Given the description of an element on the screen output the (x, y) to click on. 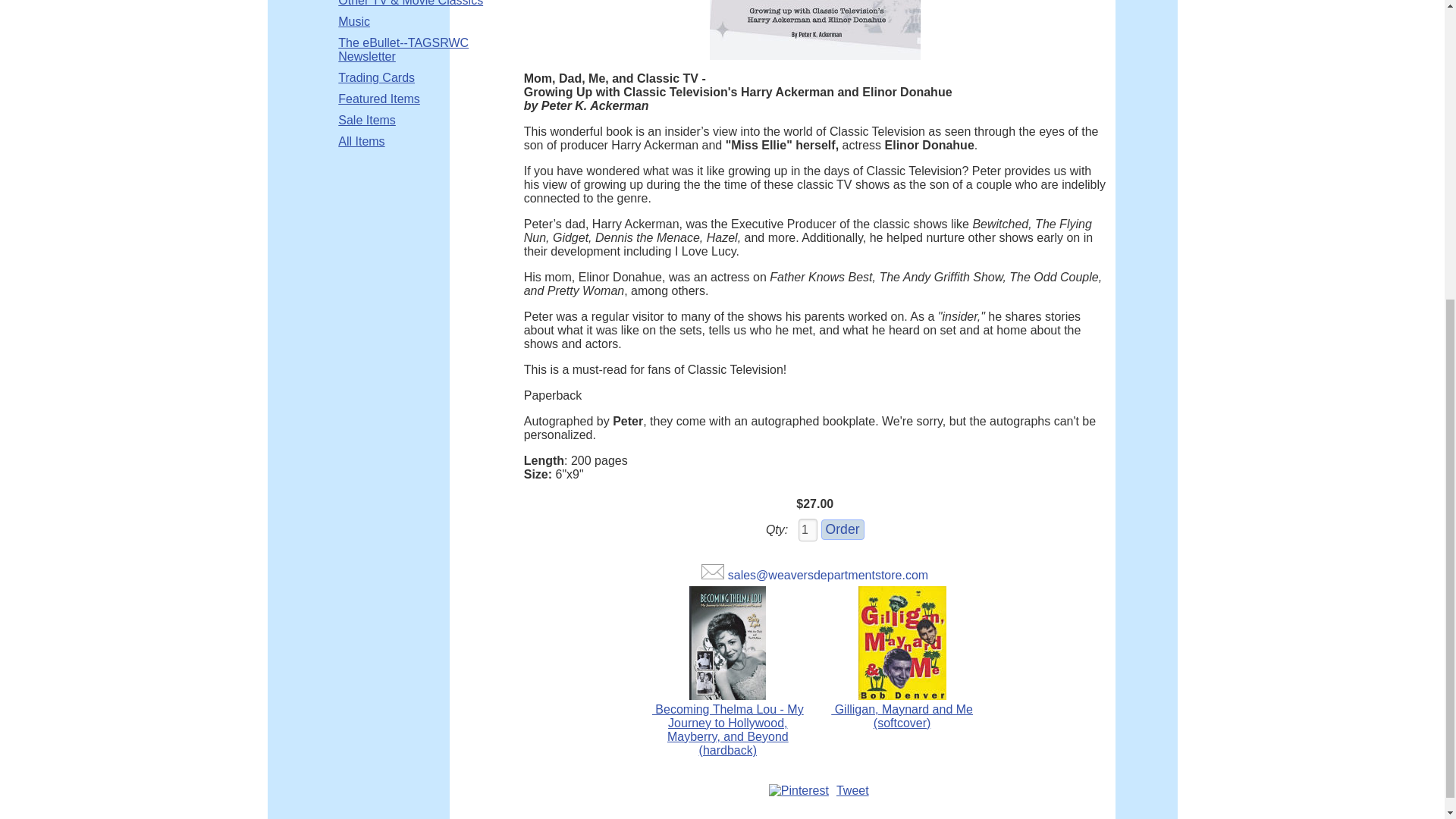
Featured Items (378, 99)
All Items (360, 141)
Pin It (798, 790)
Order (842, 529)
Mom, Dad, Me, and Classic TV (815, 29)
Trading Cards (375, 78)
The eBullet--TAGSRWC Newsletter (419, 49)
Sale Items (366, 120)
Order (842, 529)
Music (353, 21)
